Given the description of an element on the screen output the (x, y) to click on. 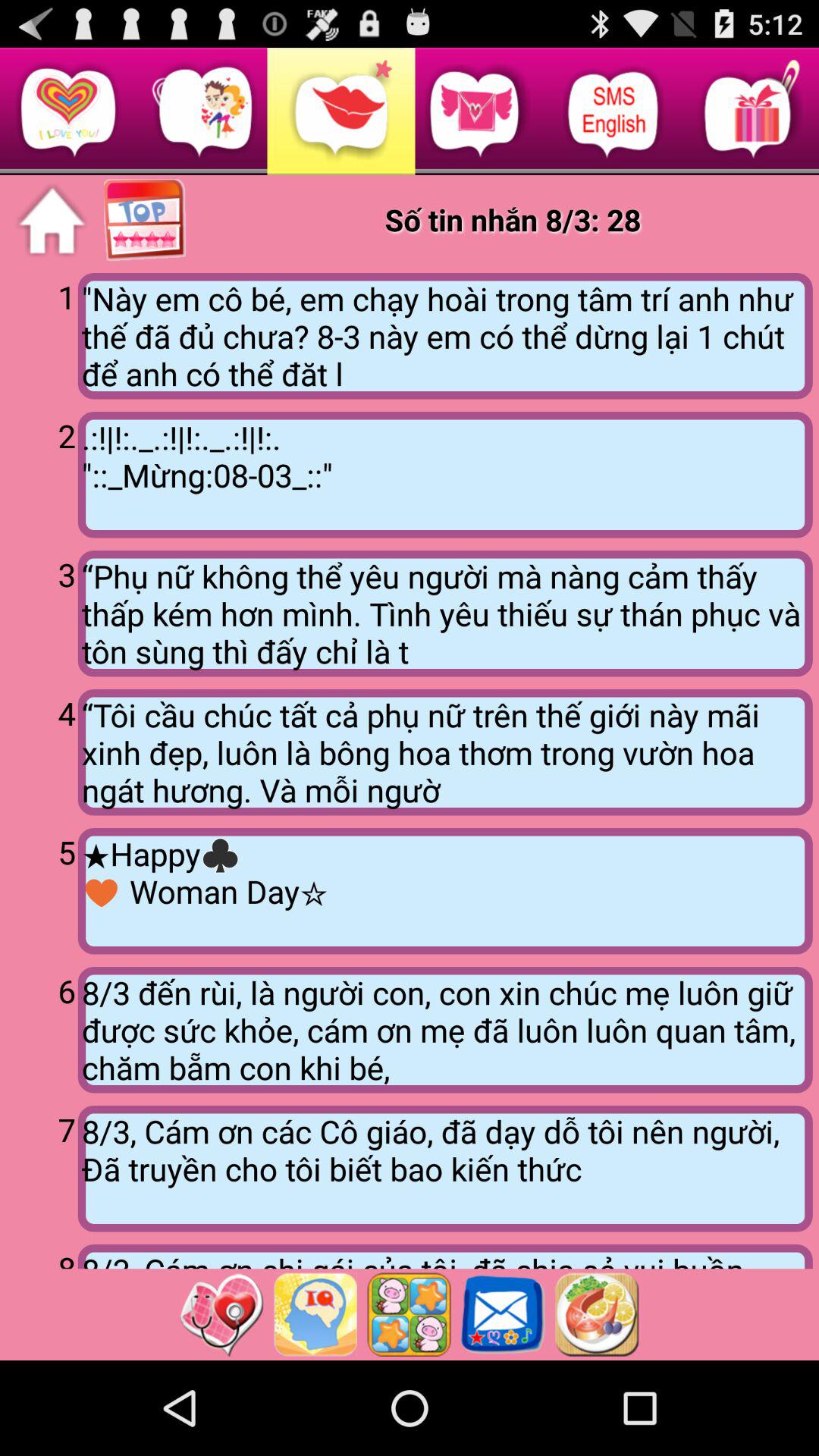
messages (502, 1314)
